Given the description of an element on the screen output the (x, y) to click on. 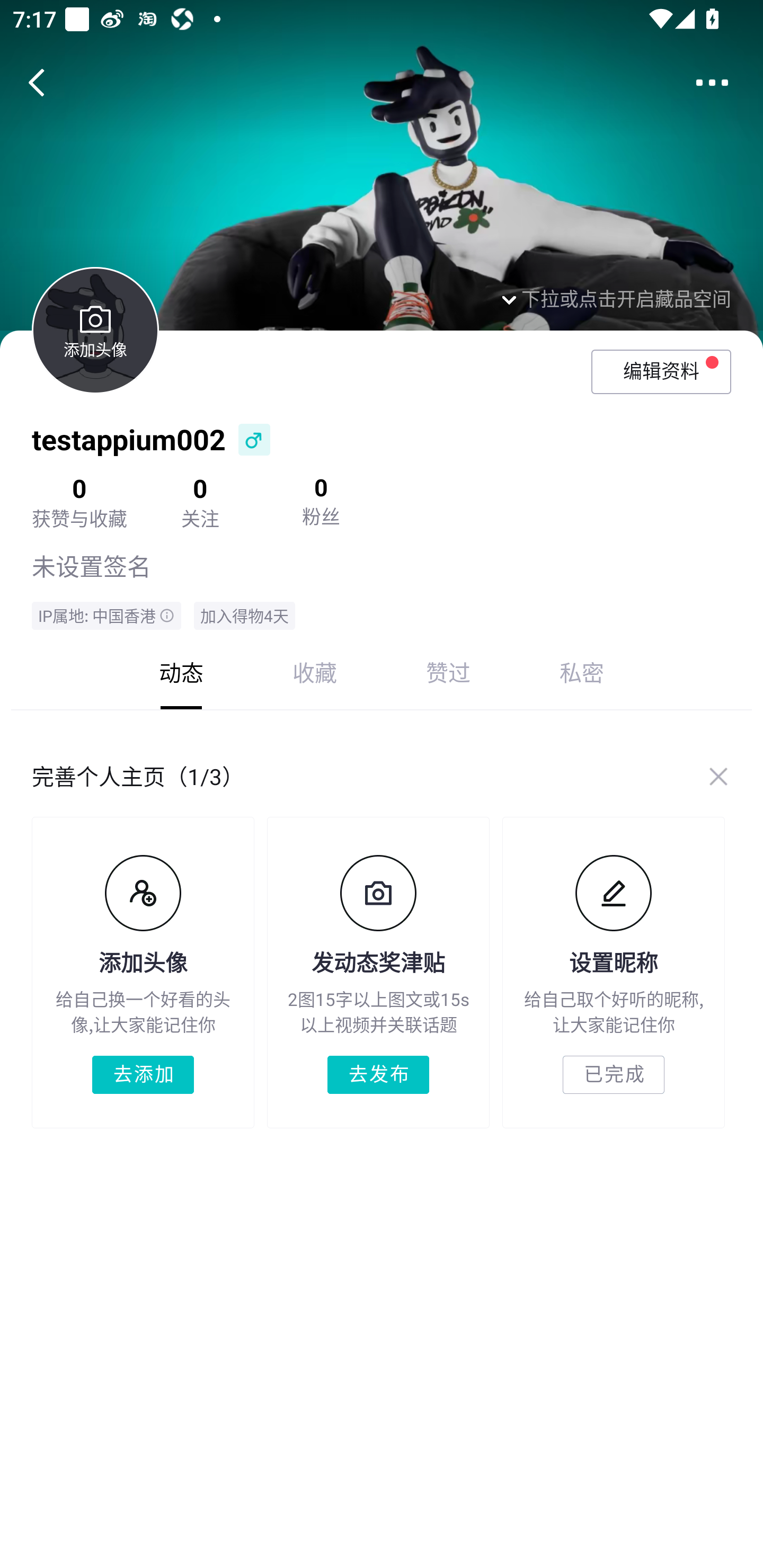
Navigate up (36, 82)
编辑资料 (660, 371)
testappium002 (128, 438)
0 (79, 487)
0 (200, 487)
0 (321, 486)
粉丝 (321, 516)
获赞与收藏 (79, 517)
关注 (200, 517)
IP属地: 中国香港 (106, 616)
动态 (180, 672)
收藏 (314, 672)
赞过 (448, 672)
私密 (581, 672)
去添加 (142, 1074)
去发布 (377, 1074)
